Given the description of an element on the screen output the (x, y) to click on. 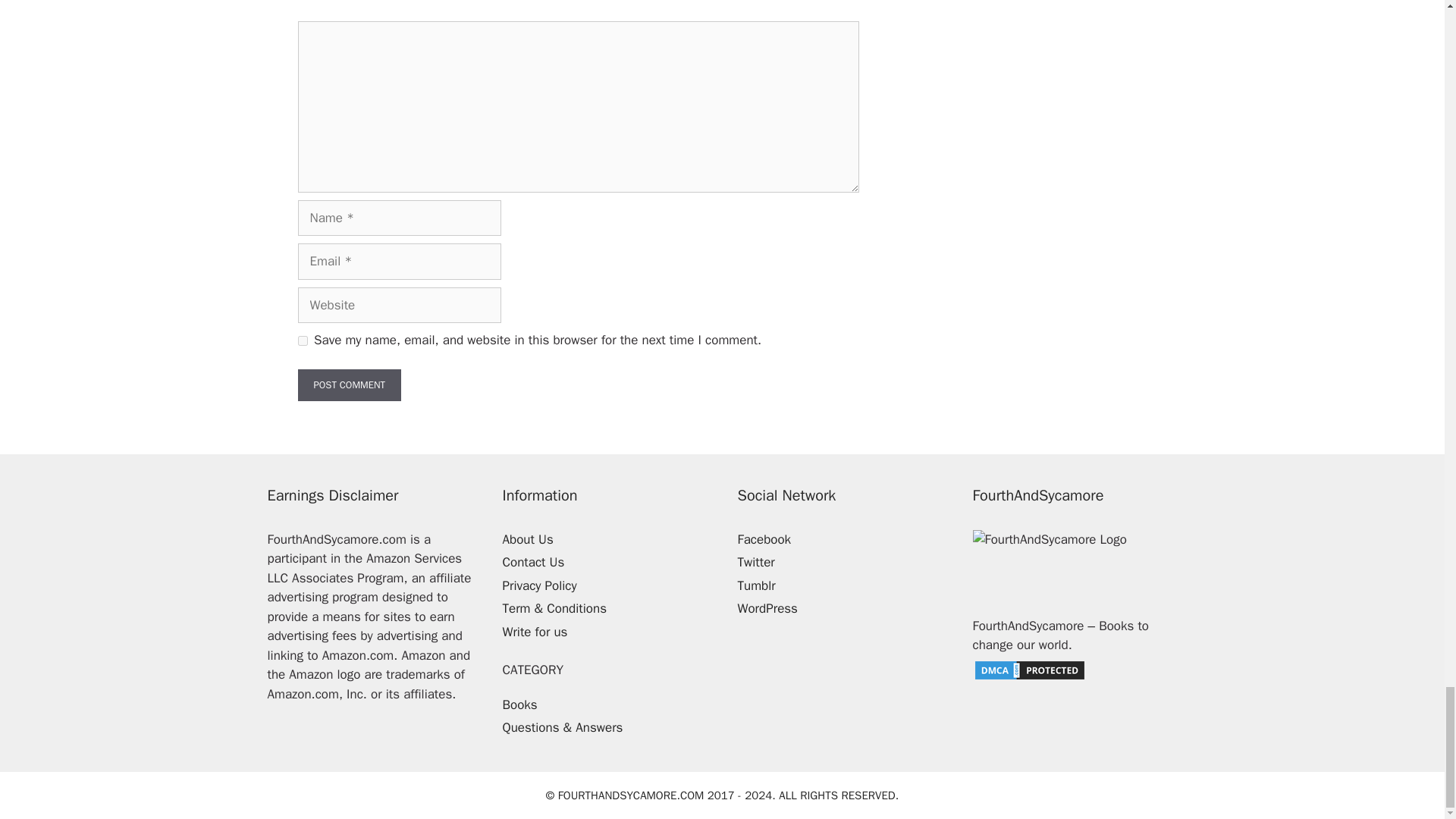
DMCA.com Protection Status (1029, 677)
yes (302, 340)
Post Comment (349, 385)
